Given the description of an element on the screen output the (x, y) to click on. 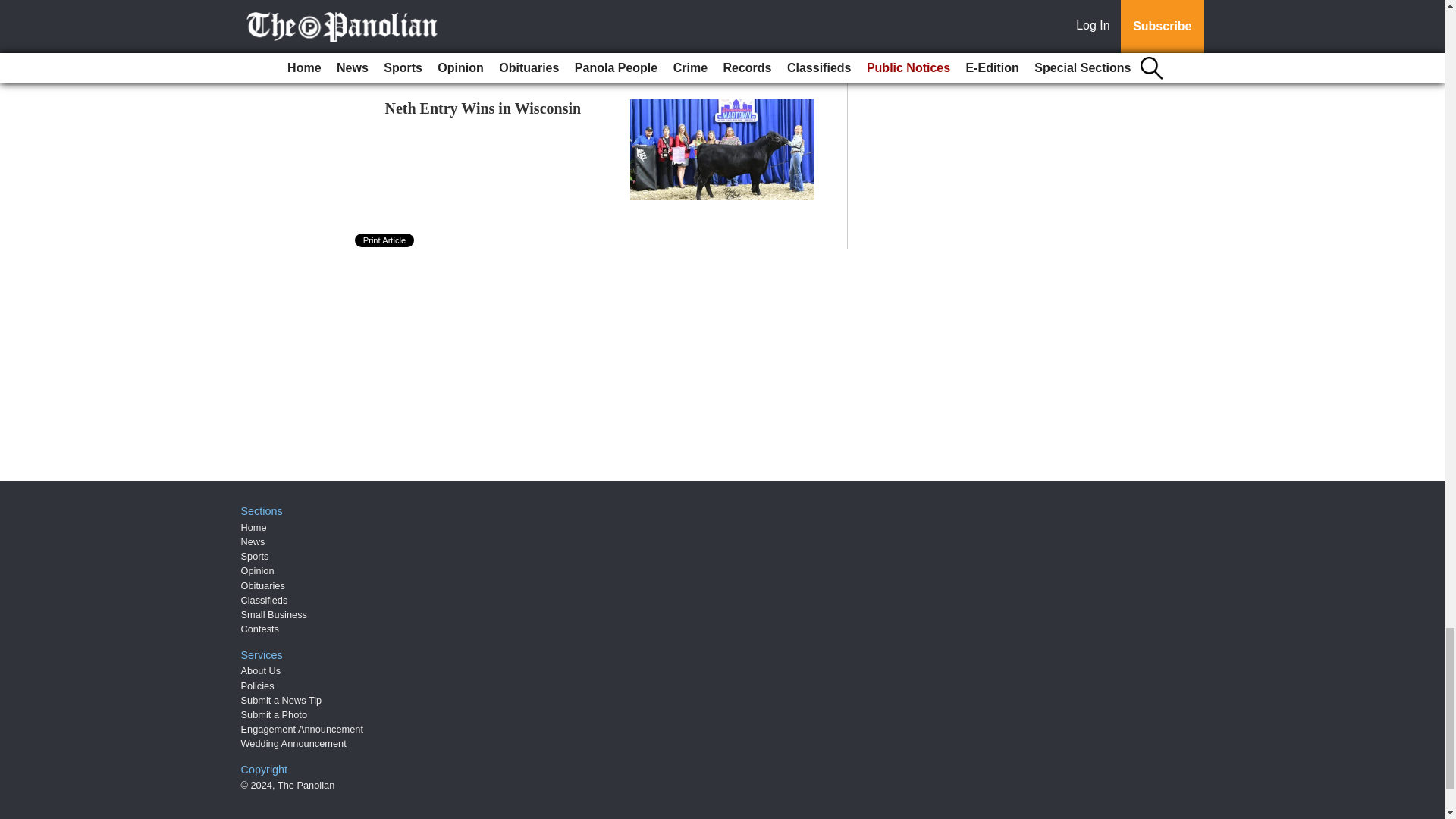
Sports (255, 555)
Opinion (258, 570)
Print Article (384, 240)
News (252, 541)
Home (253, 527)
Neth Entry Wins in Wisconsin (482, 108)
Neth Entry Wins in Wisconsin (482, 108)
